Given the description of an element on the screen output the (x, y) to click on. 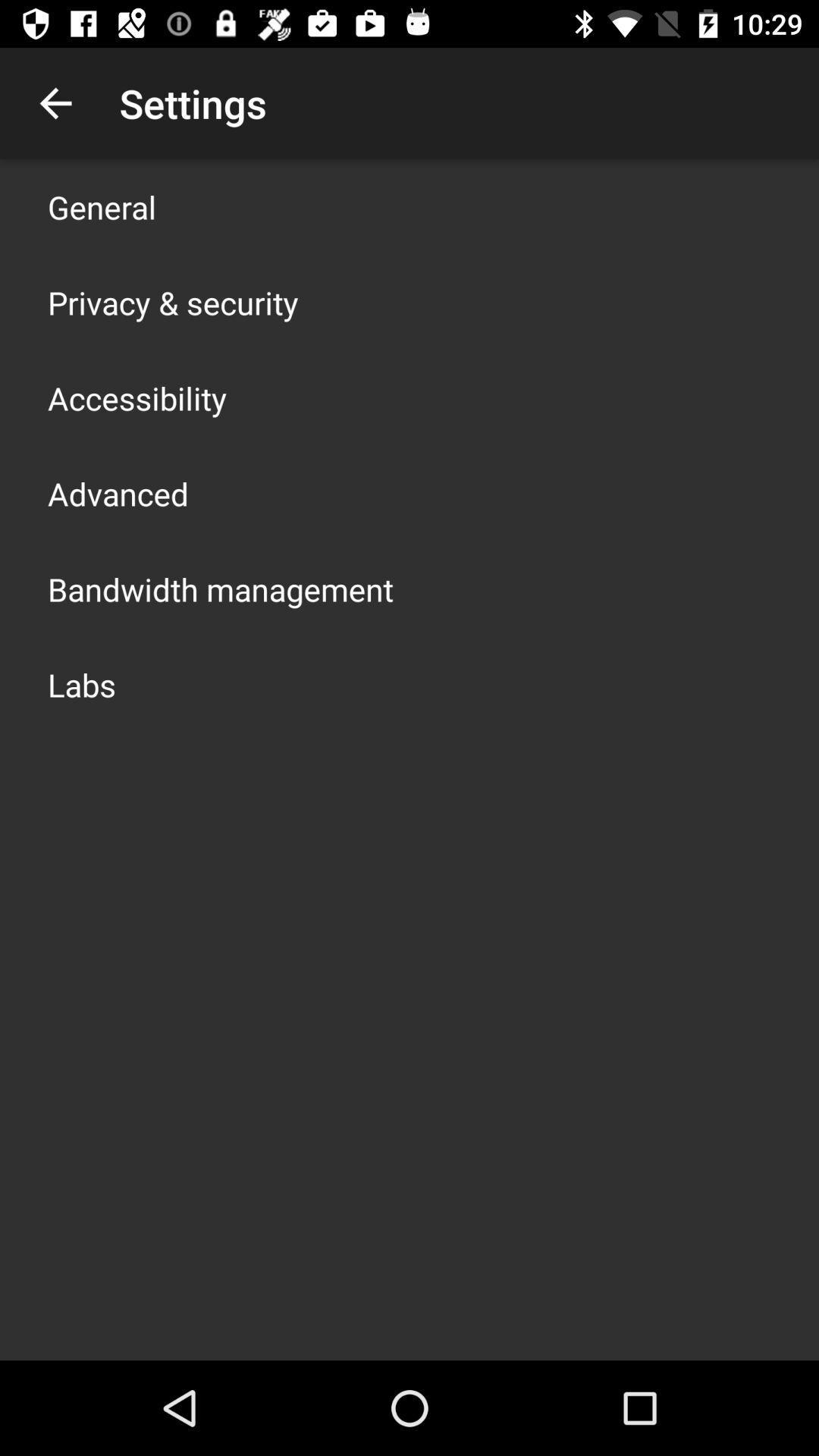
turn off the app above general icon (55, 103)
